Given the description of an element on the screen output the (x, y) to click on. 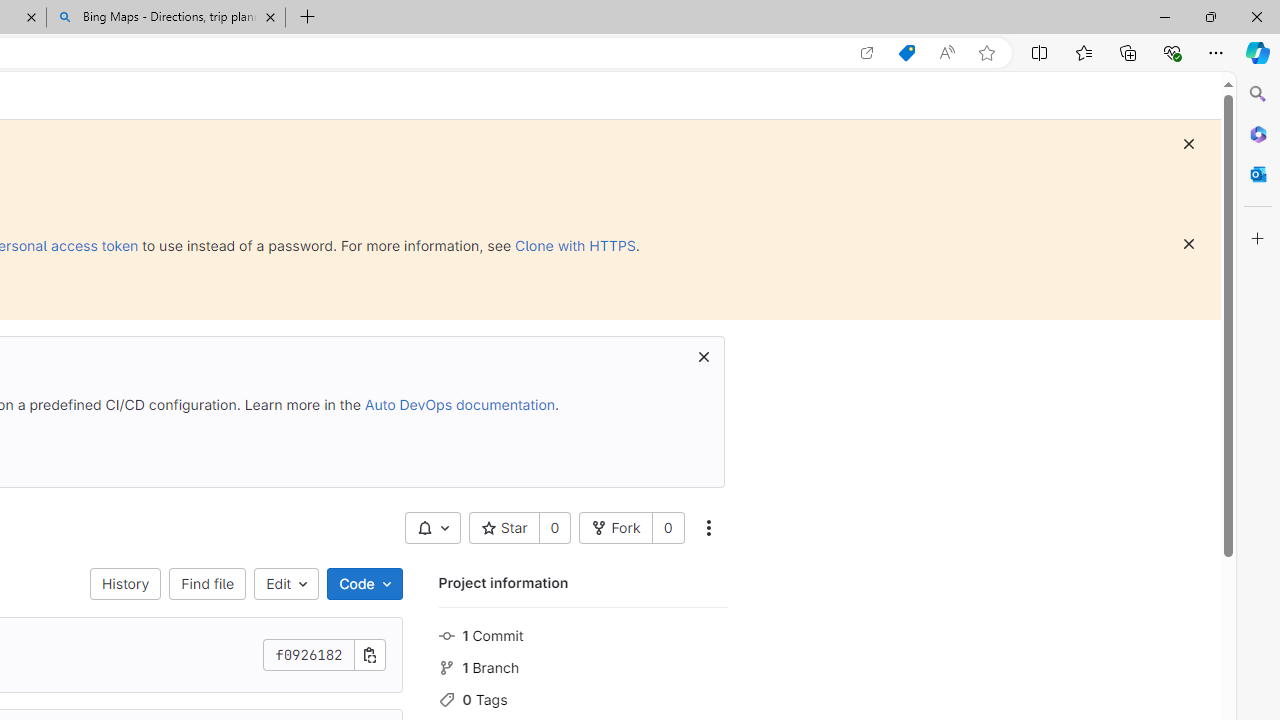
AutomationID: __BVID__514__BV_toggle_ (432, 527)
0 Tags (582, 698)
1 Commit (582, 633)
1 Branch (582, 665)
